Given the description of an element on the screen output the (x, y) to click on. 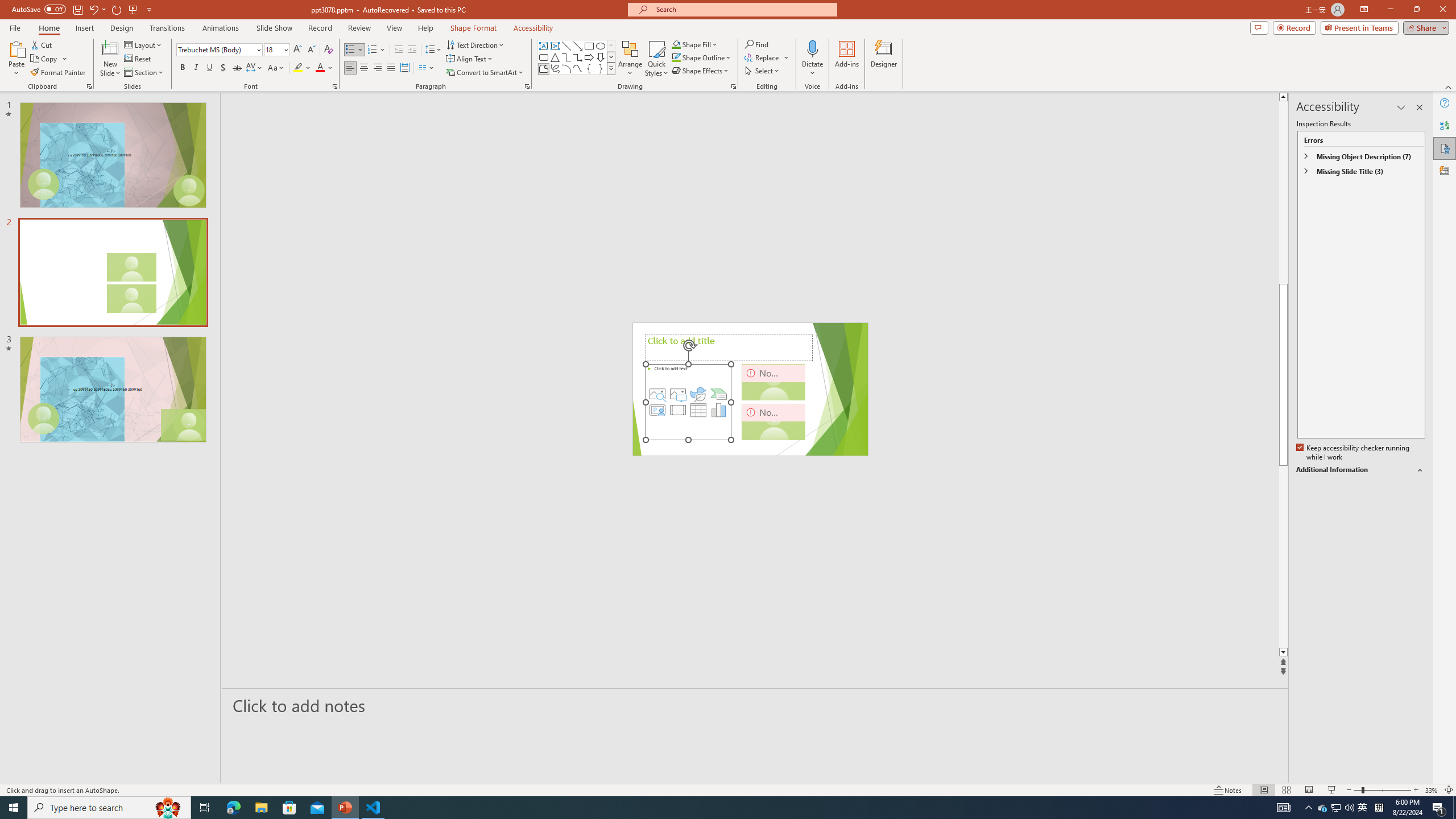
Insert Video (677, 409)
Camera 5, No camera detected. (773, 382)
